Given the description of an element on the screen output the (x, y) to click on. 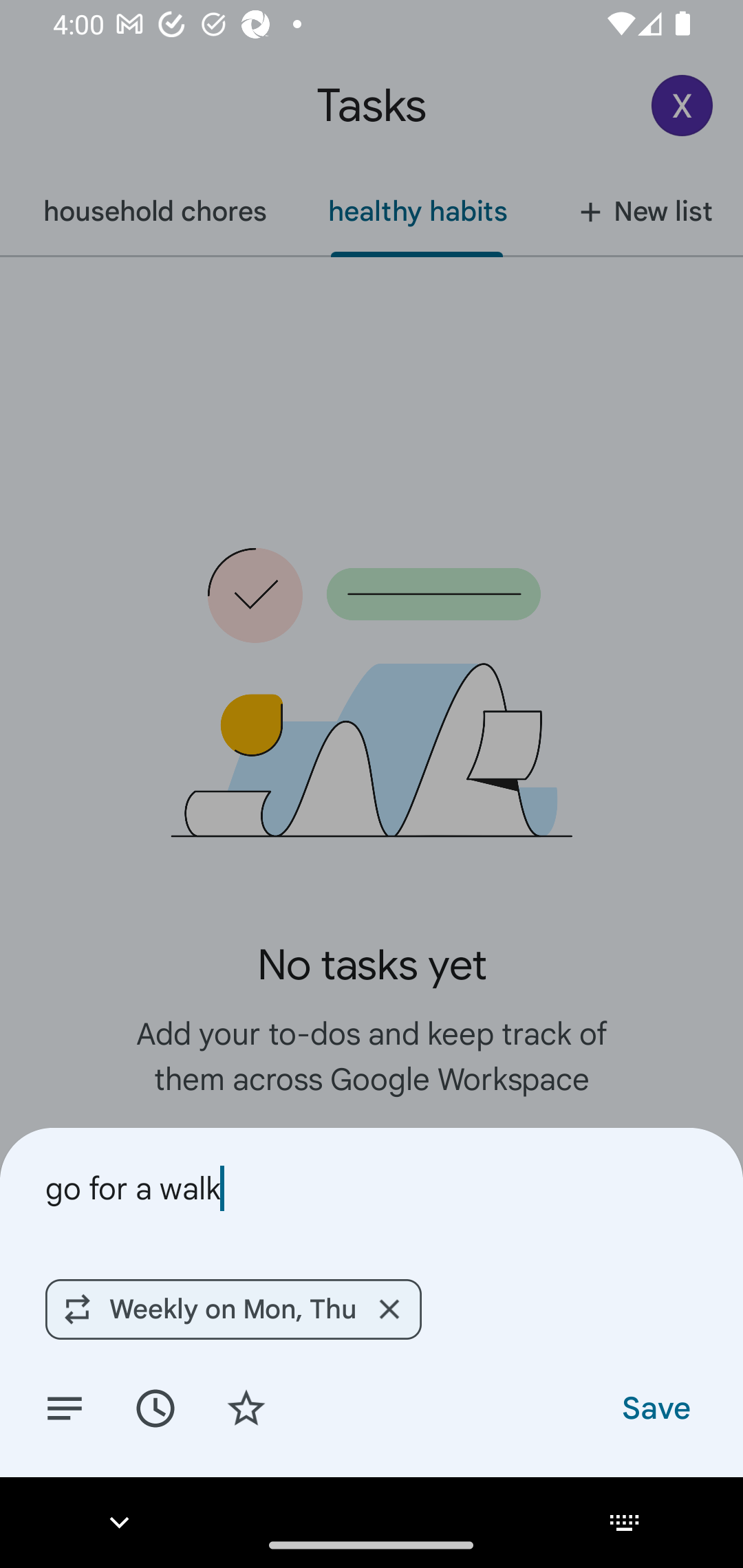
go for a walk (371, 1188)
Weekly on Mon, Thu Remove Weekly on Mon, Thu (233, 1308)
Save (655, 1407)
Add details (64, 1407)
Set date/time (154, 1407)
Add star (245, 1407)
